Given the description of an element on the screen output the (x, y) to click on. 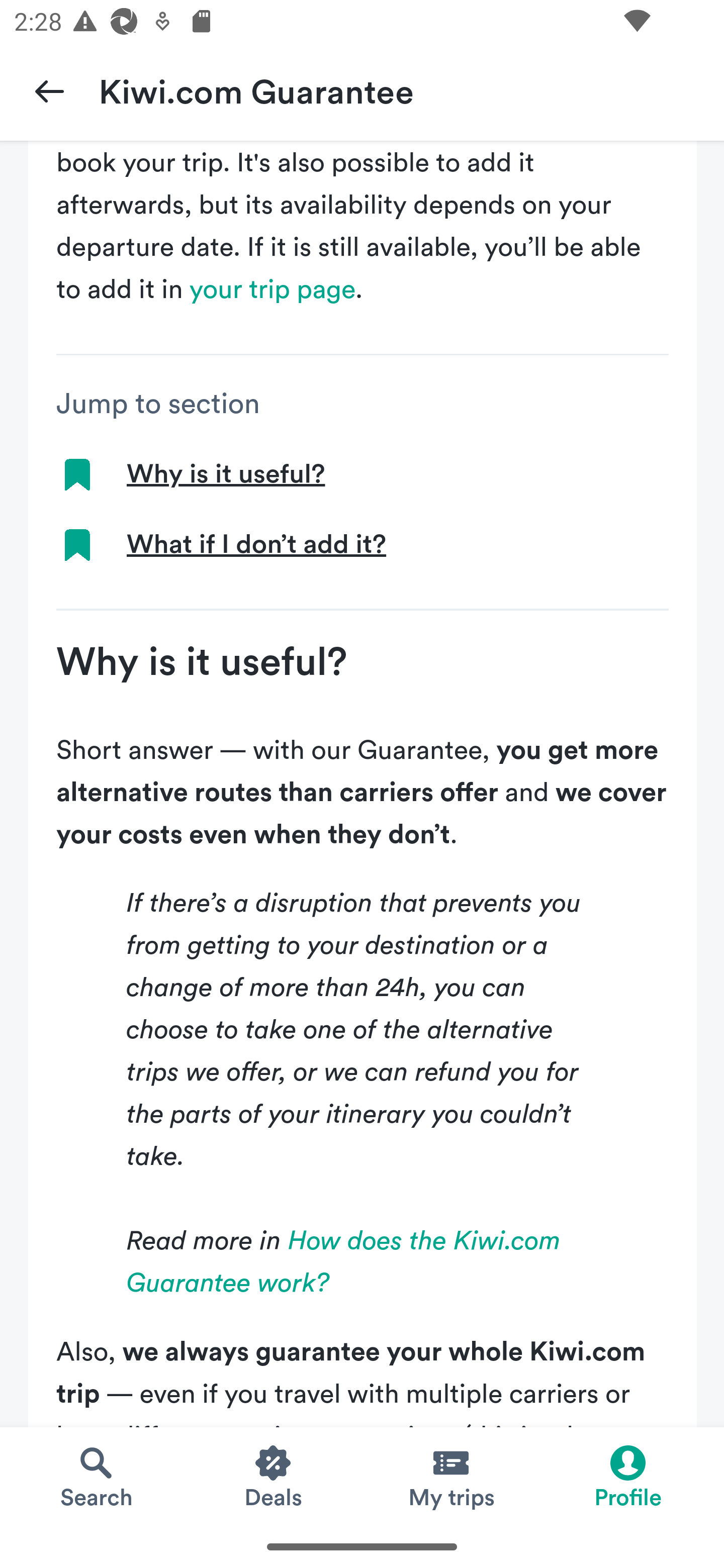
Navigate up (49, 90)
your trip page (272, 289)
Why is it useful? (225, 474)
What if I don’t add it? (256, 545)
How does the Kiwi.com Guarantee work? (343, 1262)
Search (95, 1475)
Deals (273, 1475)
My trips (450, 1475)
